Given the description of an element on the screen output the (x, y) to click on. 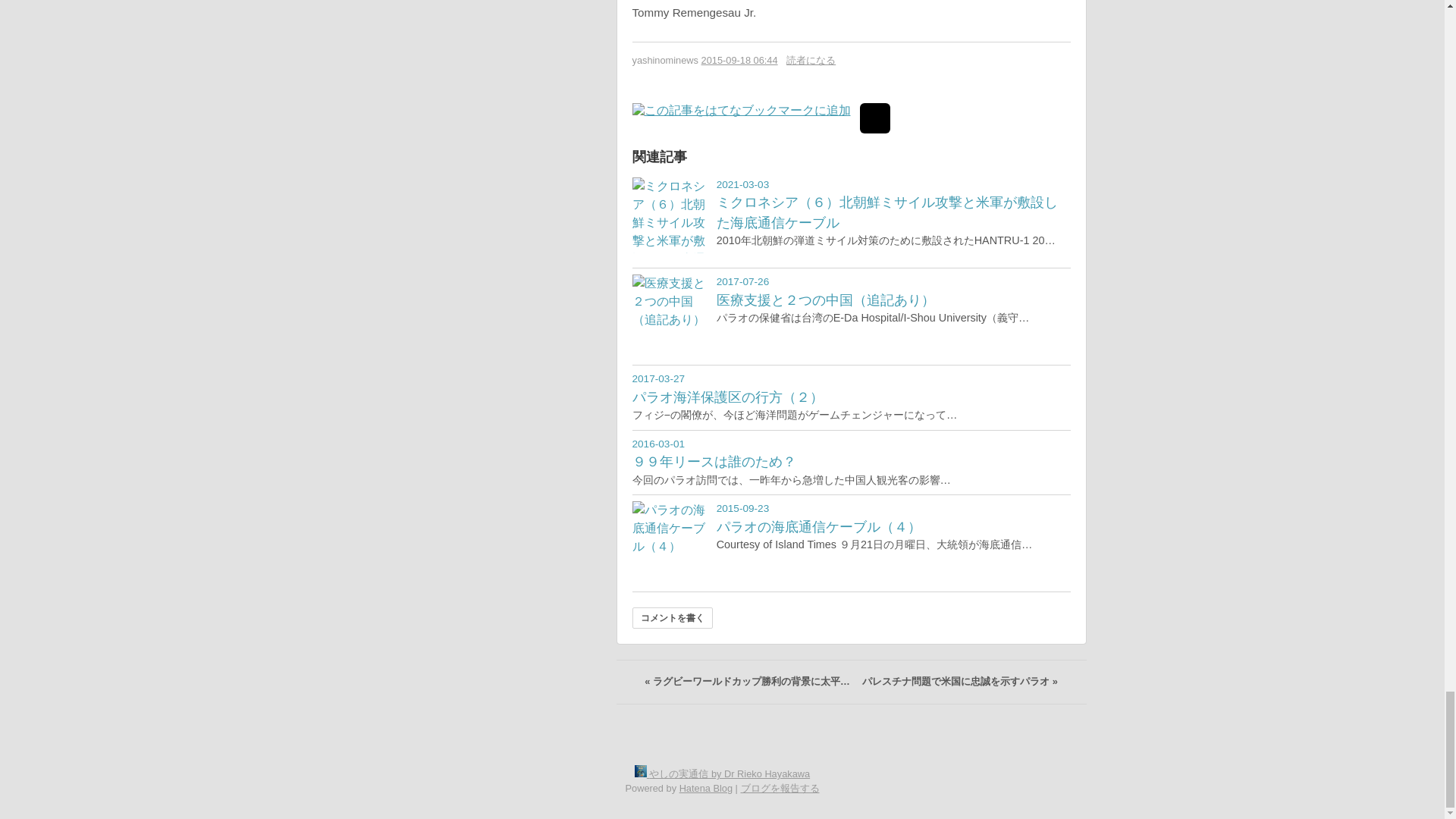
2017-07-26T08:47:39Z (743, 281)
2015-09-23 (743, 508)
2015-09-17T21:44:18Z (739, 60)
2021-03-02T23:23:38Z (743, 184)
2017-03-26T19:30:35Z (658, 378)
2017-03-27 (658, 378)
2017-07-26 (743, 281)
2016-03-01T12:23:02Z (658, 443)
2021-03-03 (743, 184)
2016-03-01 (658, 443)
2015-09-18 06:44 (739, 60)
2015-09-22T21:10:51Z (743, 508)
